Given the description of an element on the screen output the (x, y) to click on. 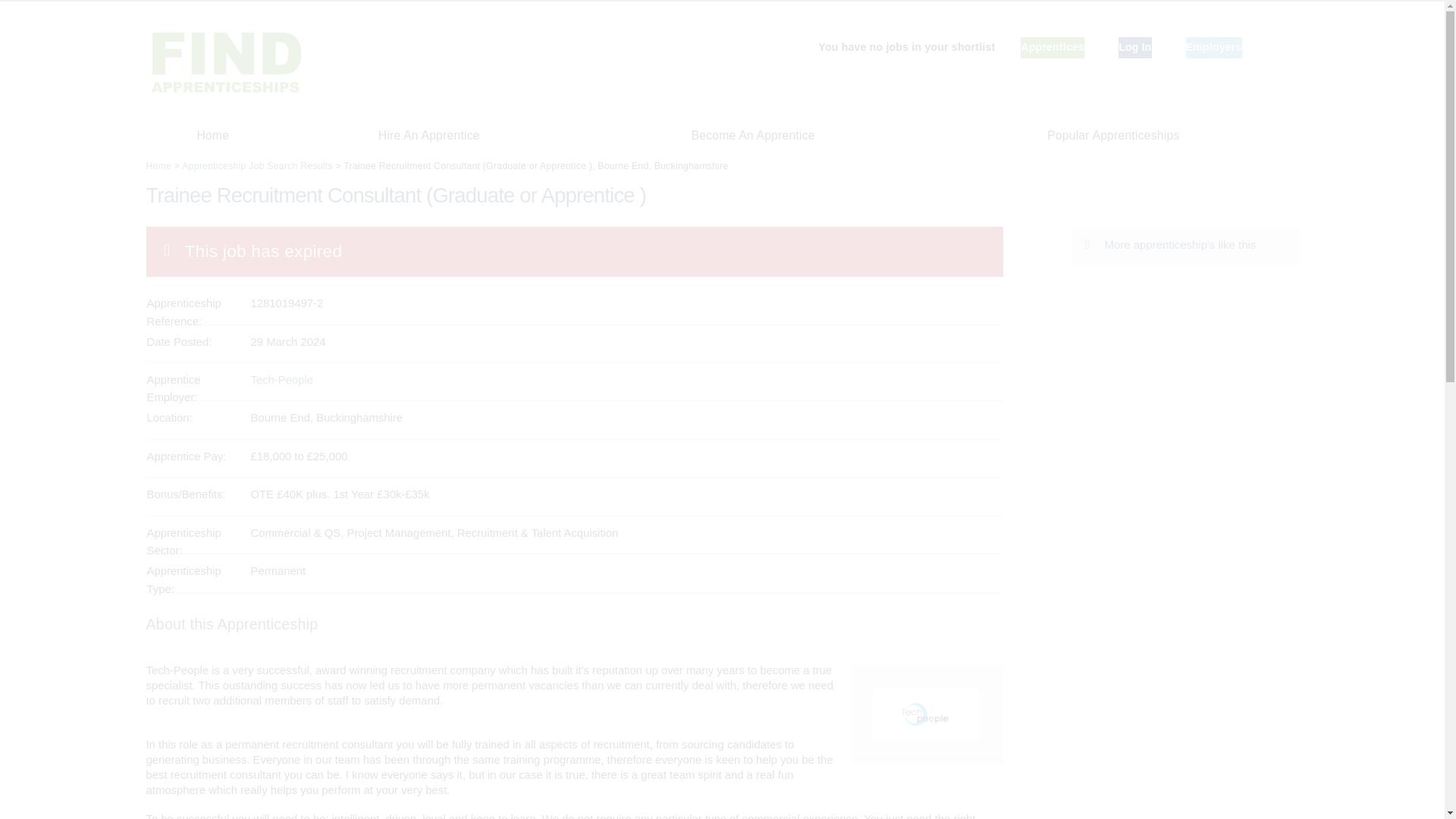
Hire An Apprentice (428, 135)
Become An Apprentice (753, 135)
Popular Apprenticeships (1113, 135)
Home (212, 135)
